Given the description of an element on the screen output the (x, y) to click on. 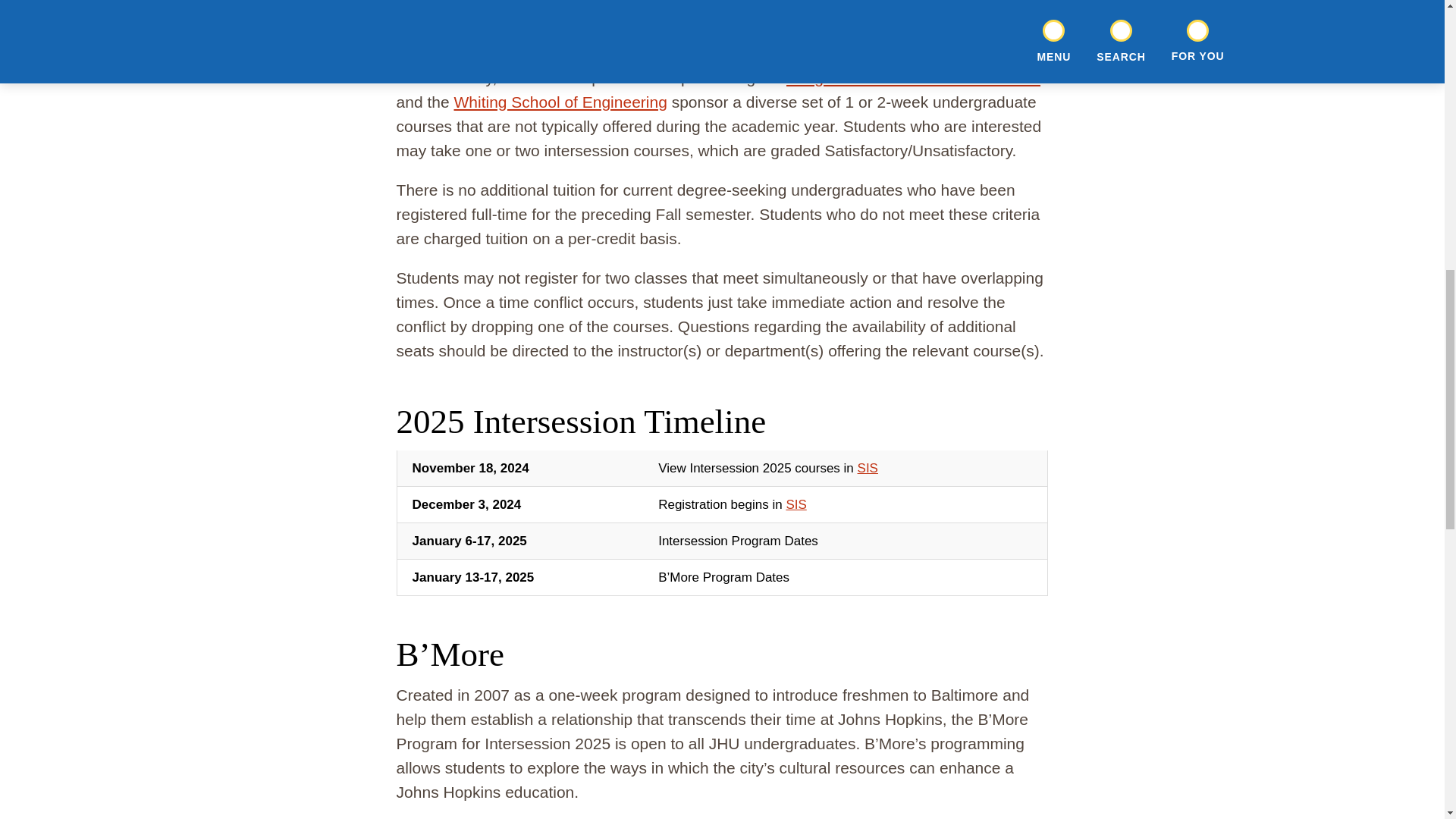
Whiting School of Engineering (559, 101)
SIS (796, 504)
Krieger School of Arts and Sciences (913, 77)
SIS (867, 468)
Open site alert (1183, 38)
